Given the description of an element on the screen output the (x, y) to click on. 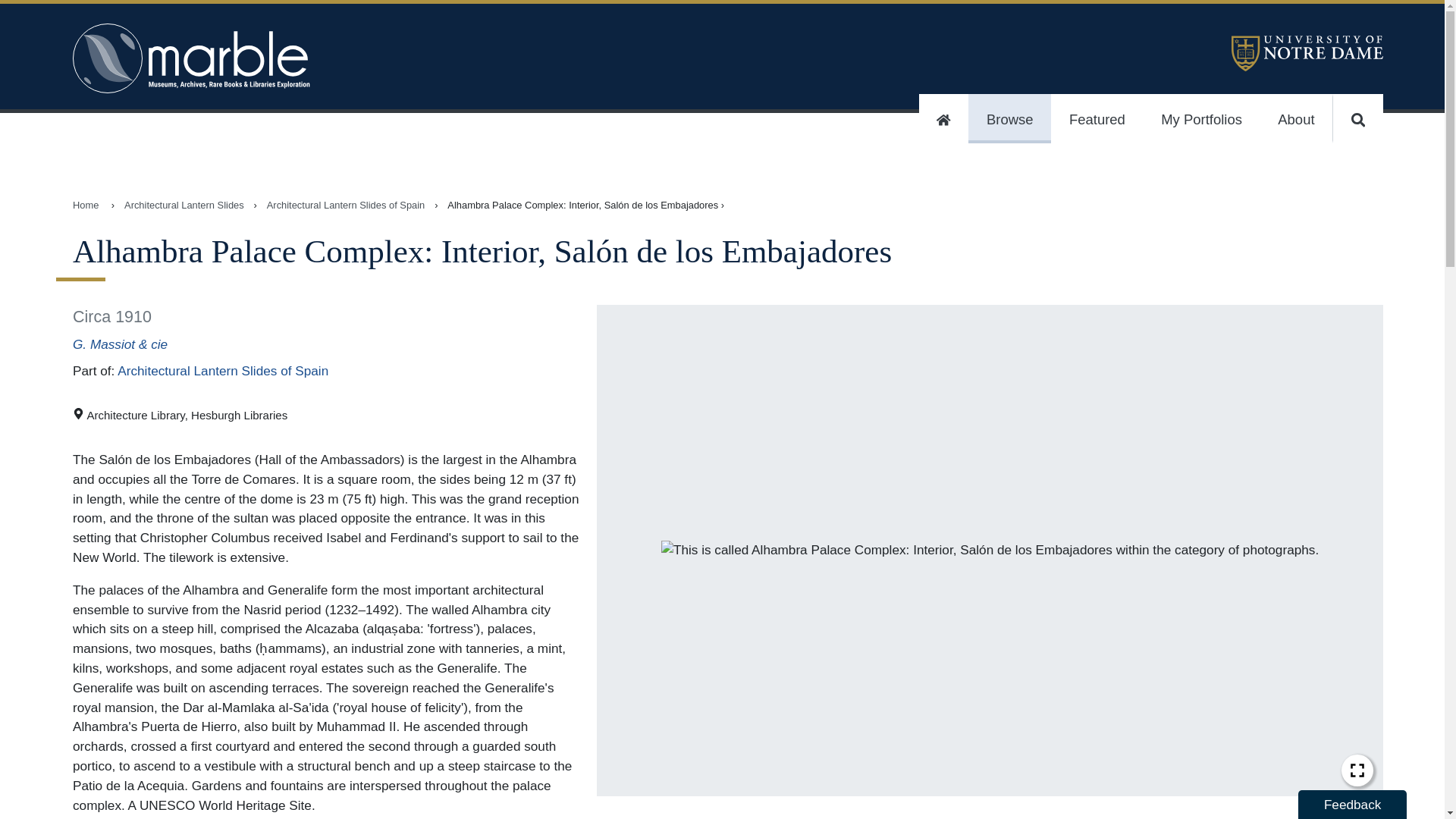
Home (85, 204)
Architectural Lantern Slides (183, 204)
My Portfolios (1201, 118)
Featured (1096, 118)
Architectural Lantern Slides of Spain (345, 204)
Featured (1096, 118)
Home (943, 118)
show search (1357, 118)
